Given the description of an element on the screen output the (x, y) to click on. 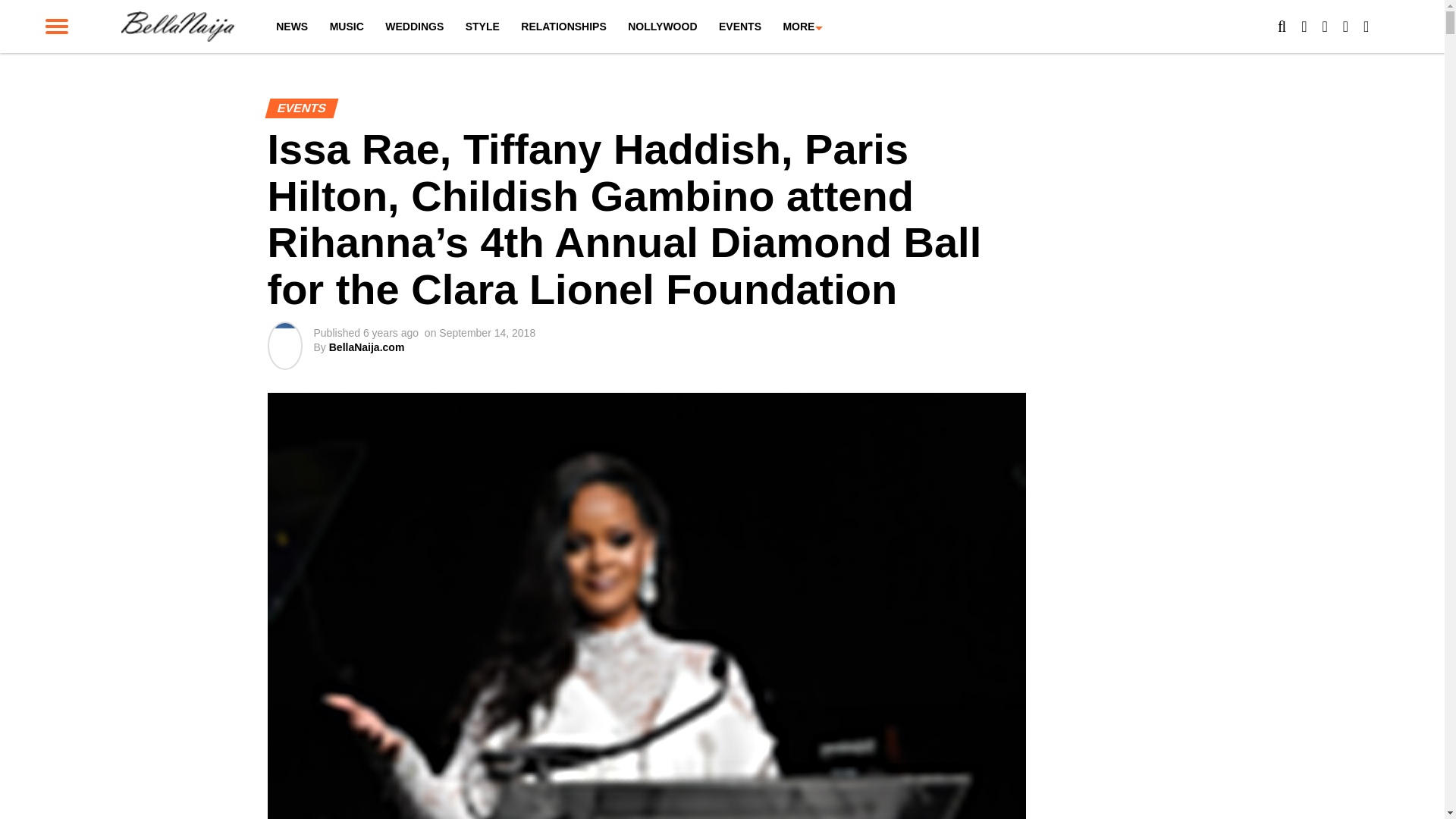
NOLLYWOOD (662, 26)
EVENTS (740, 26)
WEDDINGS (413, 26)
STYLE (482, 26)
RELATIONSHIPS (563, 26)
NEWS (291, 26)
MUSIC (346, 26)
MORE (798, 26)
